Given the description of an element on the screen output the (x, y) to click on. 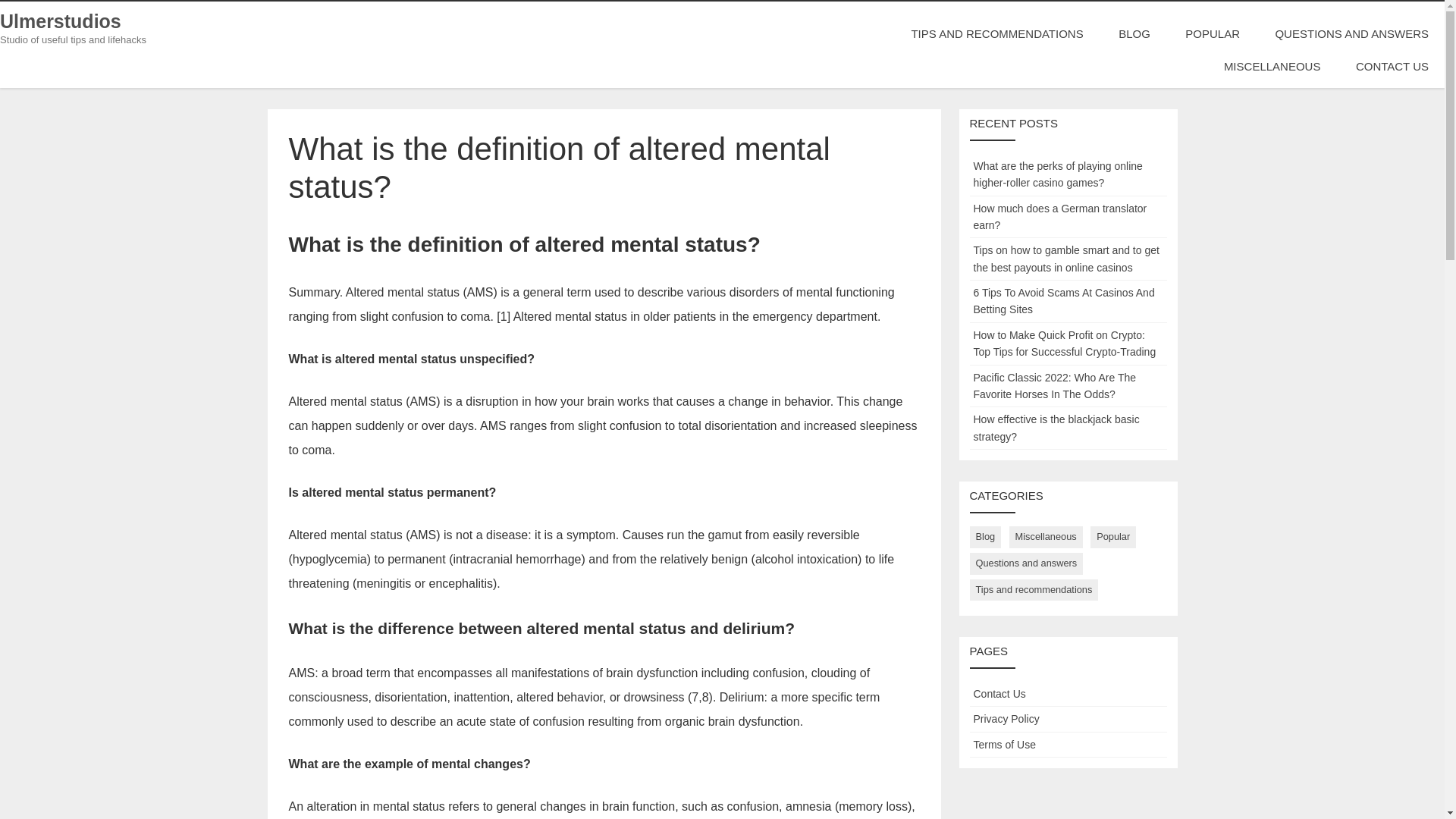
Twitter (5, 154)
POPULAR (1212, 33)
Questions and answers (1026, 563)
Miscellaneous (1046, 536)
Ulmerstudios (60, 21)
BLOG (1134, 33)
Ulmerstudios (60, 21)
Messenger (5, 148)
Blog (985, 536)
How effective is the blackjack basic strategy? (1057, 427)
